Given the description of an element on the screen output the (x, y) to click on. 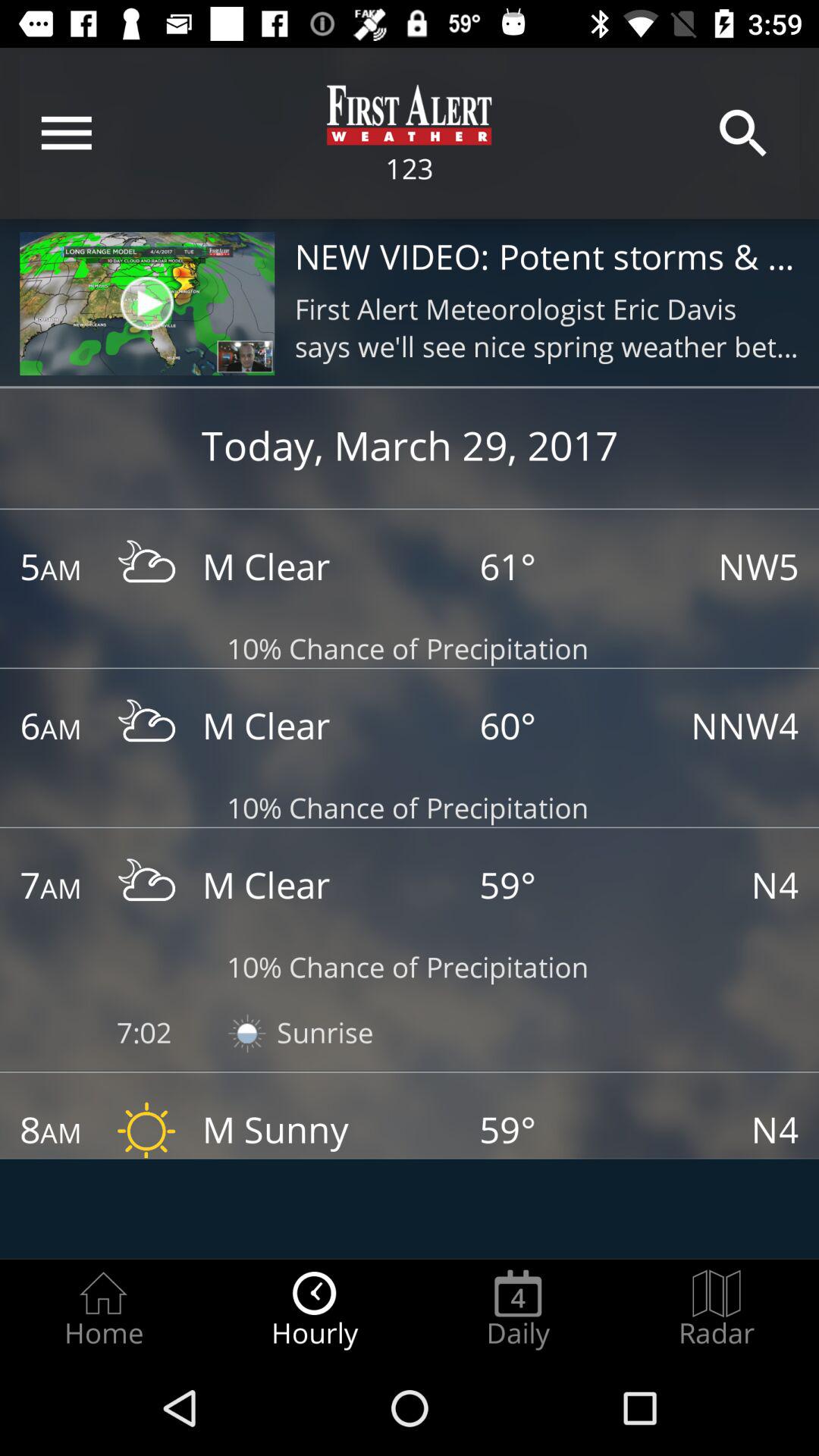
turn off the item next to the hourly radio button (518, 1309)
